Given the description of an element on the screen output the (x, y) to click on. 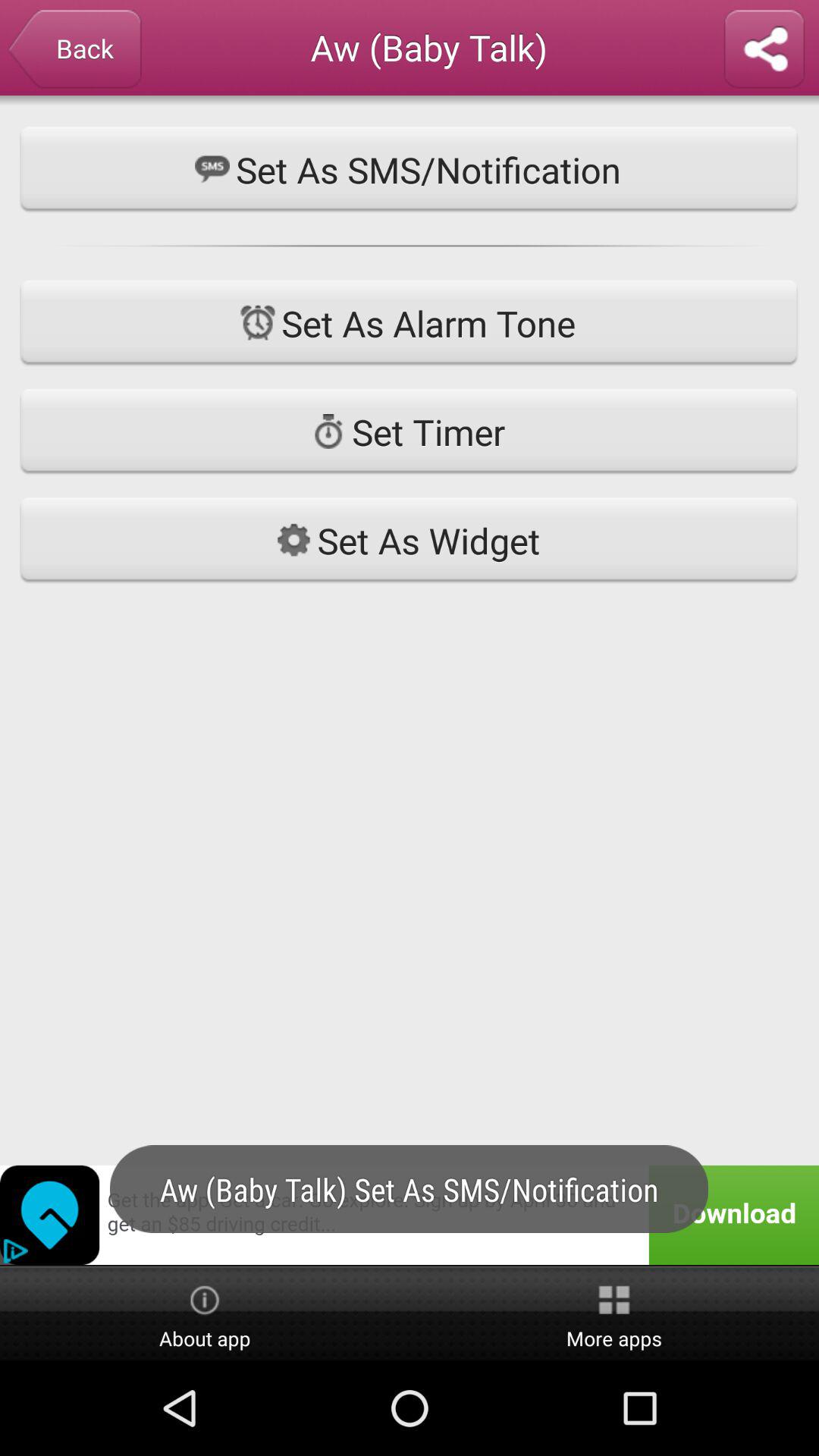
share with someone (764, 50)
